Given the description of an element on the screen output the (x, y) to click on. 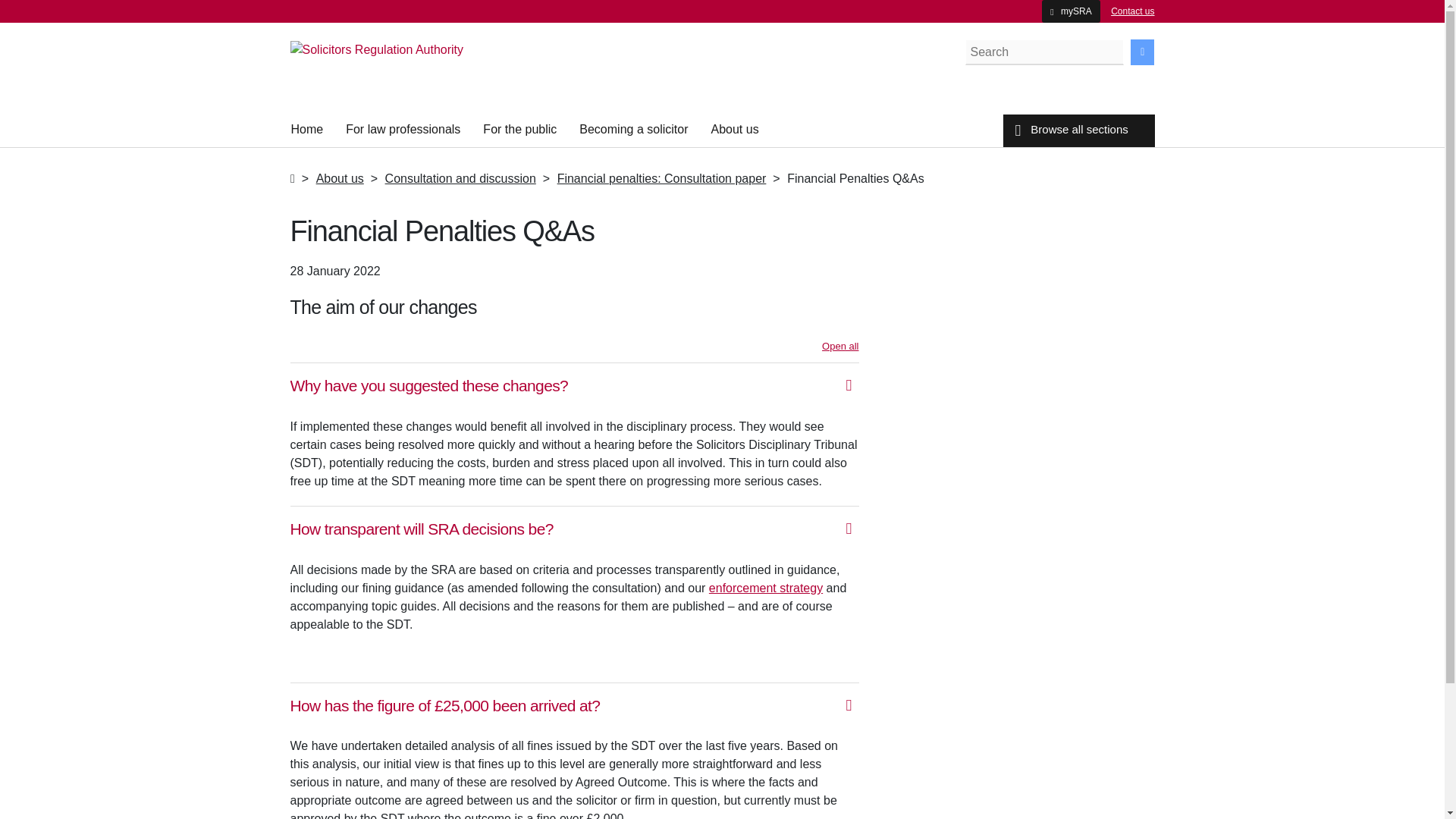
For law professionals (403, 130)
How transparent will SRA decisions be? (574, 530)
Financial penalties: Consultation paper (662, 178)
enforcement strategy (765, 587)
Home (307, 130)
For the public (519, 130)
Home (307, 130)
mySRA (1070, 11)
About us (339, 178)
About us  (734, 130)
